Given the description of an element on the screen output the (x, y) to click on. 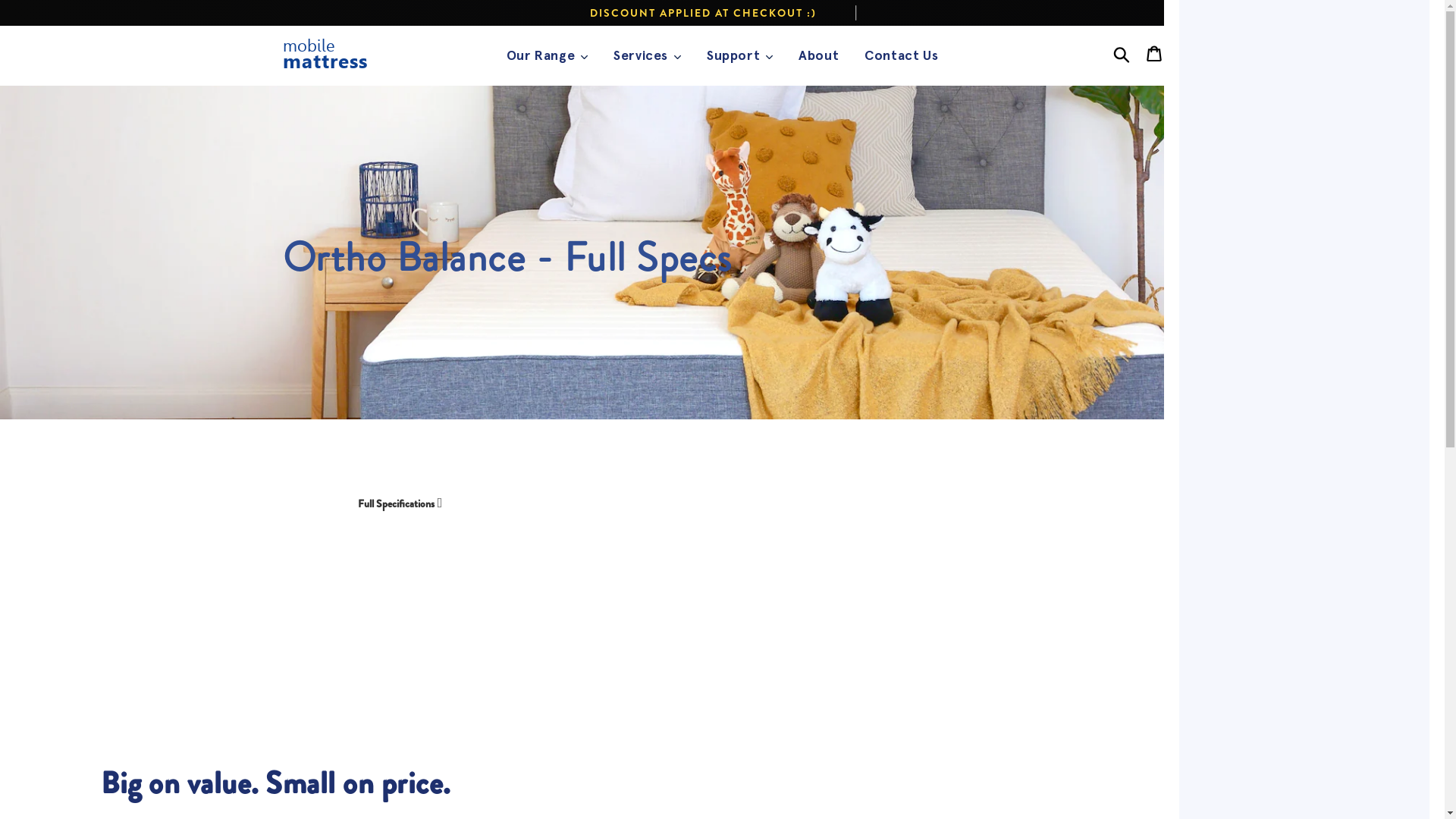
1300 791 170 Element type: text (1374, 12)
mobilemattress Element type: text (329, 53)
About Element type: text (818, 55)
Contact Us Element type: text (901, 55)
DISCOUNT APPLIED AT CHECKOUT :)
| Element type: text (722, 12)
Cart Element type: text (1153, 53)
